Given the description of an element on the screen output the (x, y) to click on. 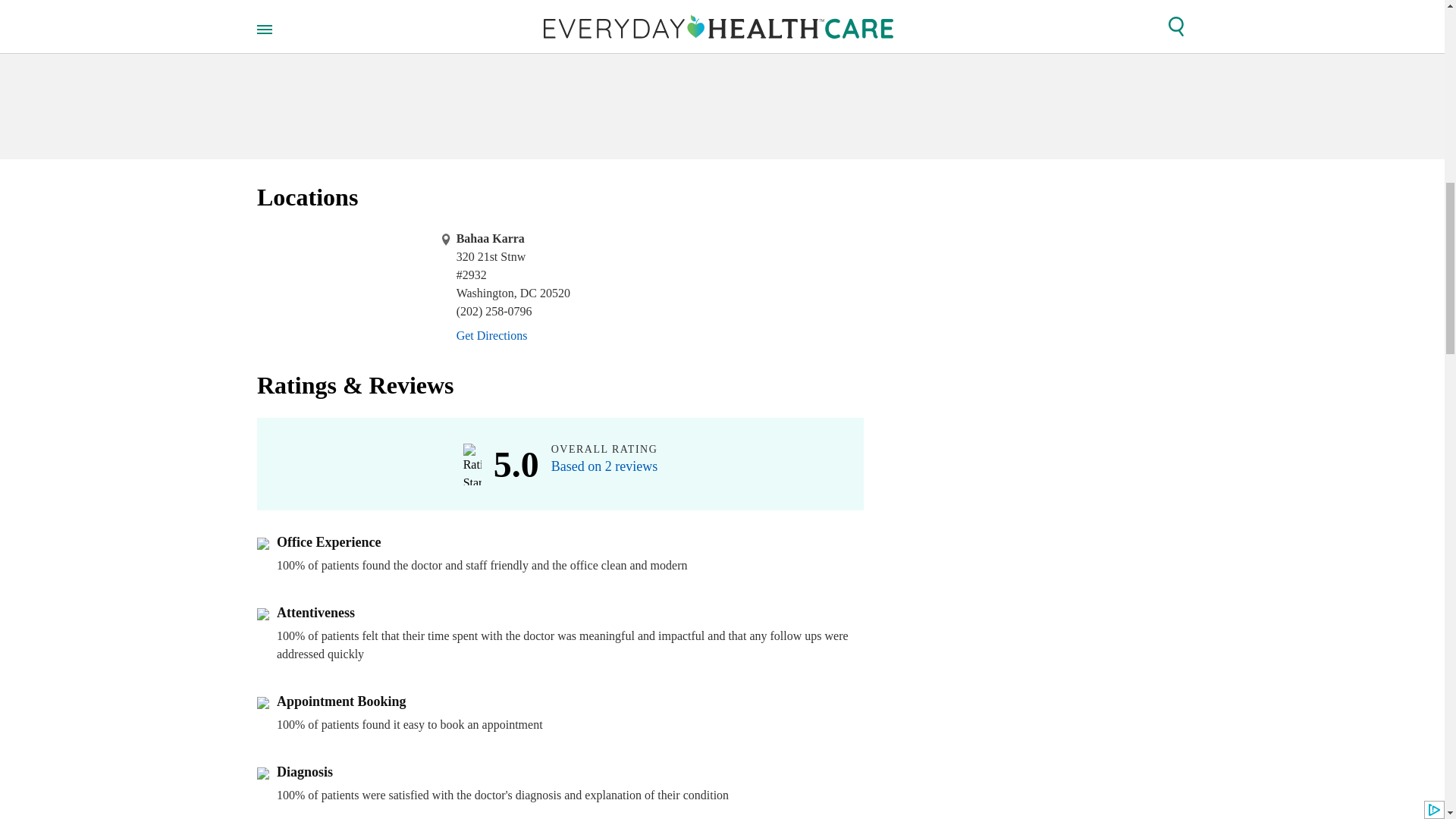
Spine Stimulation (696, 44)
Joint Replacement Care (587, 20)
Amputation Rehabilitation (442, 20)
Regenerative Medicine (403, 2)
Motor Control Analysis (617, 2)
Hyaluronate Injections (444, 44)
Wheelchair Evaluation (536, 56)
Fluoroscopic Guided Injections (745, 20)
